Given the description of an element on the screen output the (x, y) to click on. 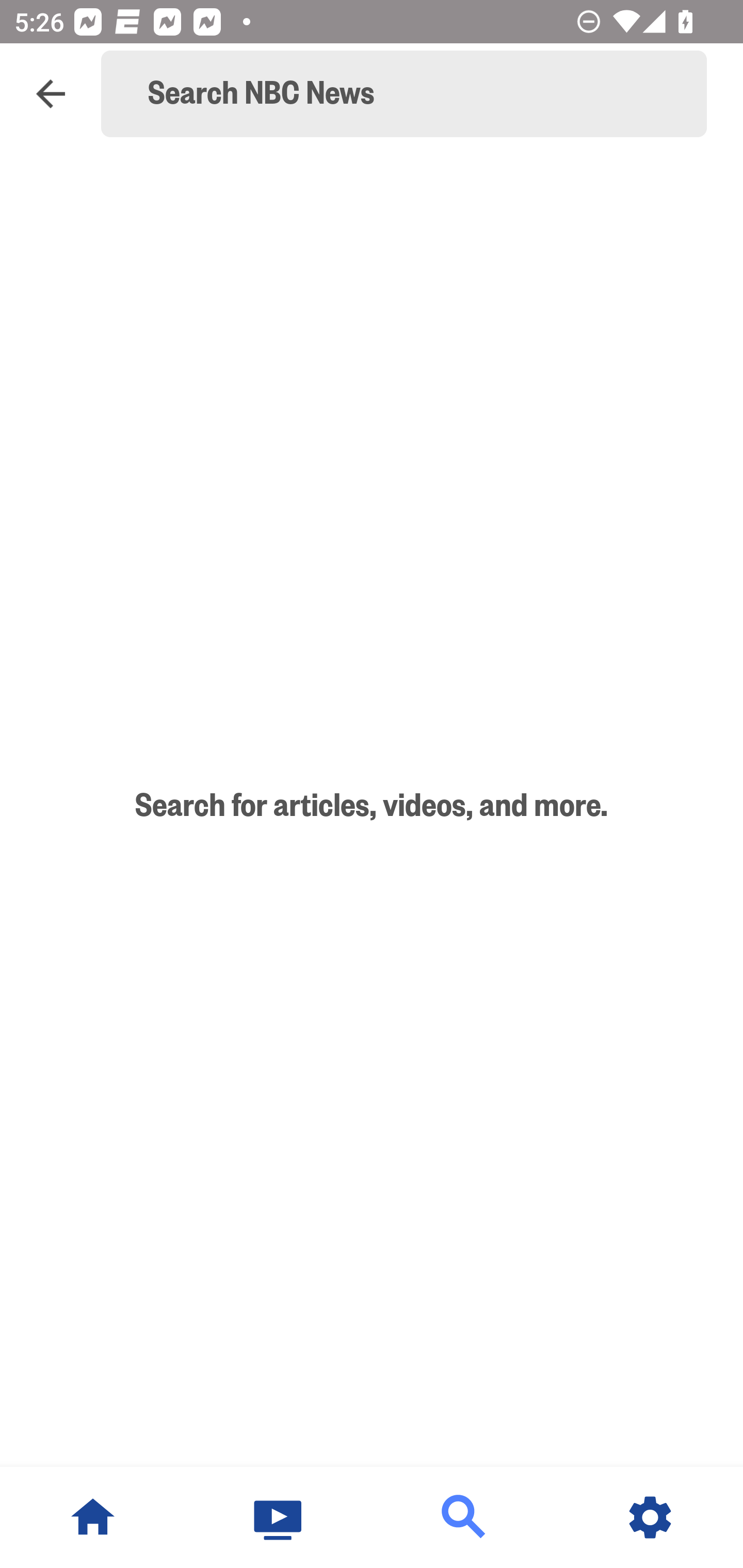
Navigate up (50, 93)
Search NBC News (412, 94)
NBC News Home (92, 1517)
Watch (278, 1517)
Settings (650, 1517)
